Given the description of an element on the screen output the (x, y) to click on. 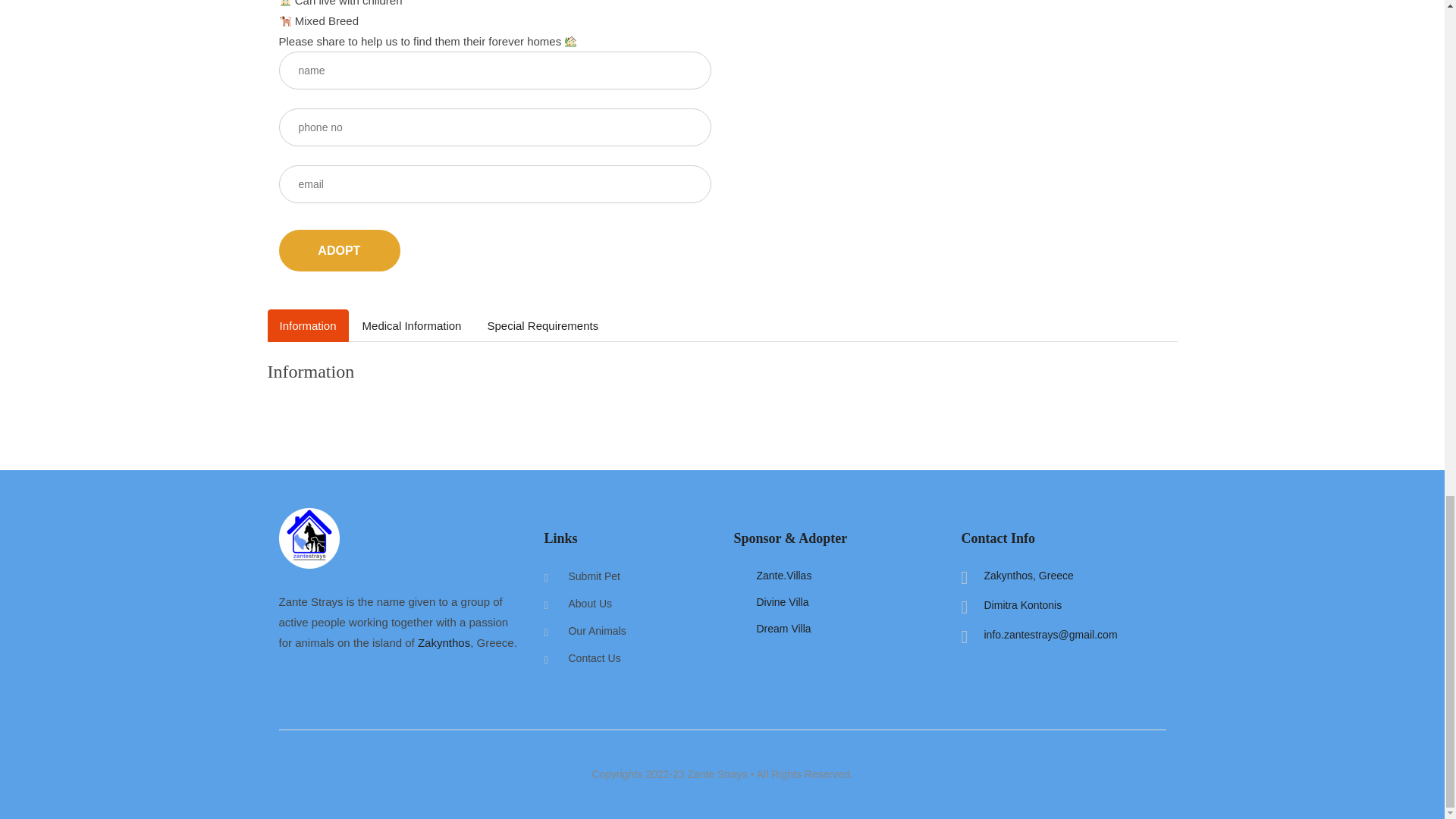
About Us (577, 603)
Contact Us (581, 657)
Special Requirements (542, 325)
Divine Villa (783, 602)
Zante Villas (783, 602)
Luxury Villas in Zante (784, 575)
Zakynthos (443, 642)
Information (306, 325)
 Adopt  (339, 250)
Our Animals (584, 630)
Submit Pet (581, 576)
Medical Information (412, 325)
Zakynthos Villas ,villas ,zakynthos (443, 642)
Zakynthos villas (783, 628)
Zante.Villas (784, 575)
